Given the description of an element on the screen output the (x, y) to click on. 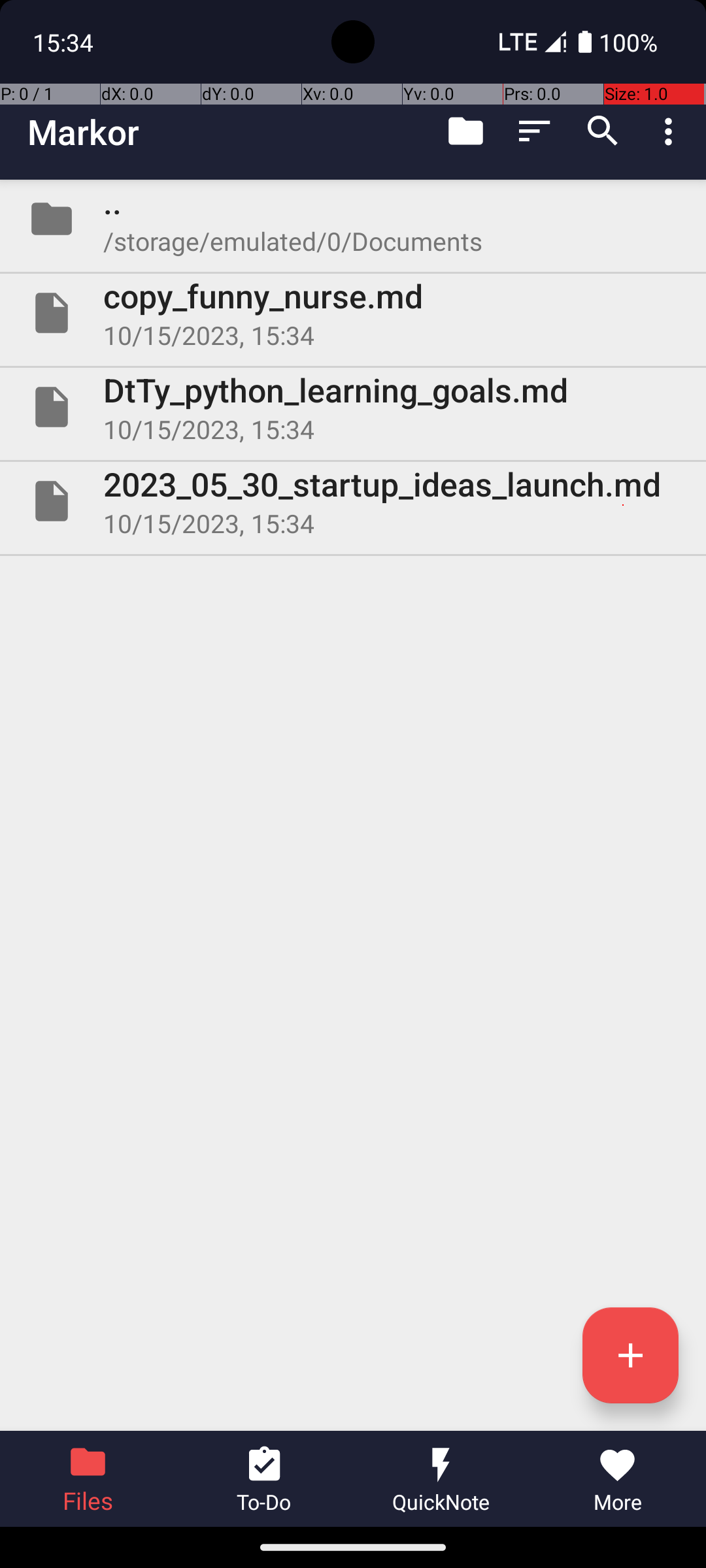
File copy_funny_nurse.md  Element type: android.widget.LinearLayout (353, 312)
File DtTy_python_learning_goals.md  Element type: android.widget.LinearLayout (353, 406)
File 2023_05_30_startup_ideas_launch.md  Element type: android.widget.LinearLayout (353, 500)
